Given the description of an element on the screen output the (x, y) to click on. 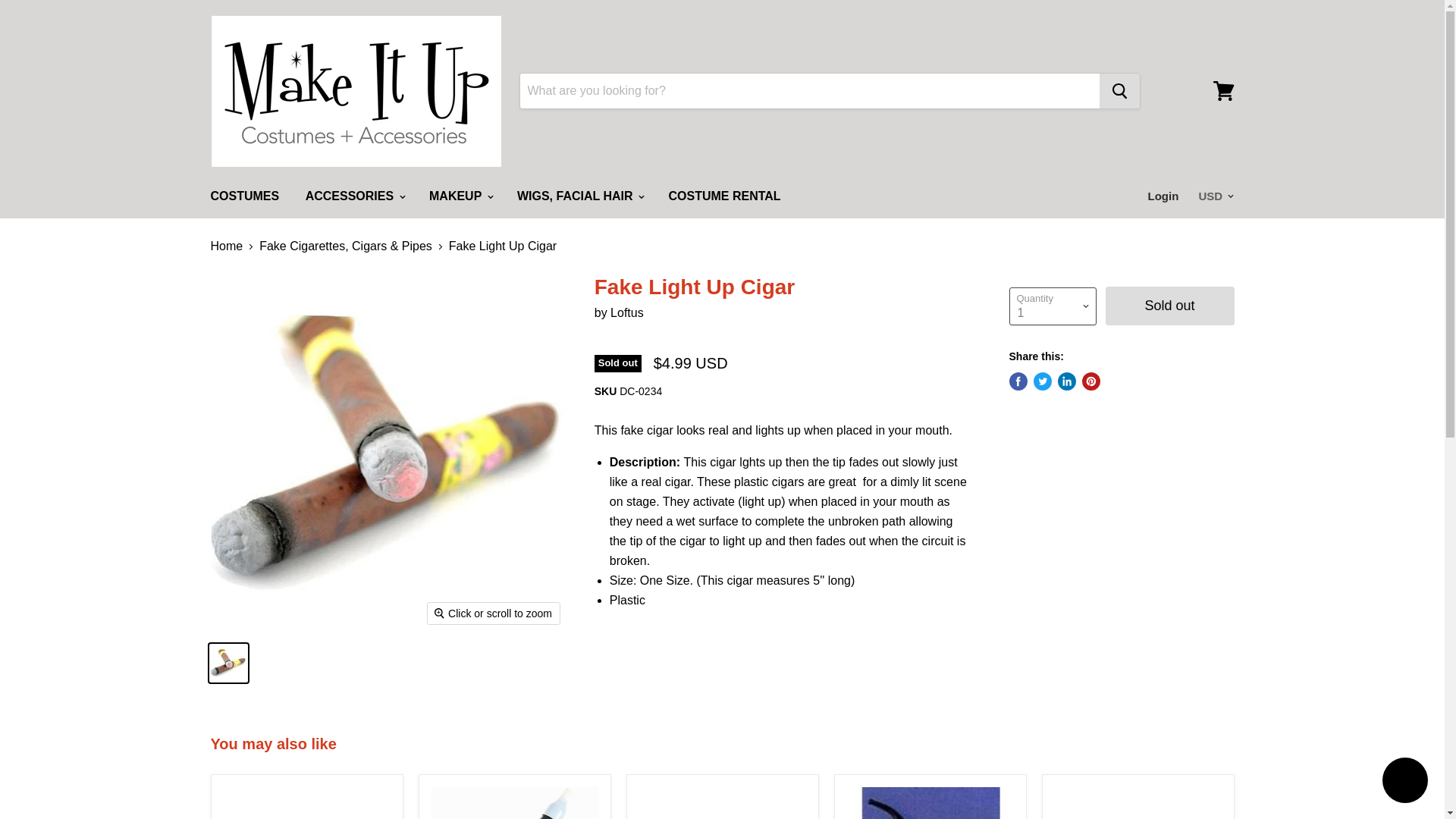
Loftus (626, 312)
COSTUMES (243, 196)
ACCESSORIES (354, 196)
Shopify online store chat (1404, 781)
View cart (1223, 90)
